Given the description of an element on the screen output the (x, y) to click on. 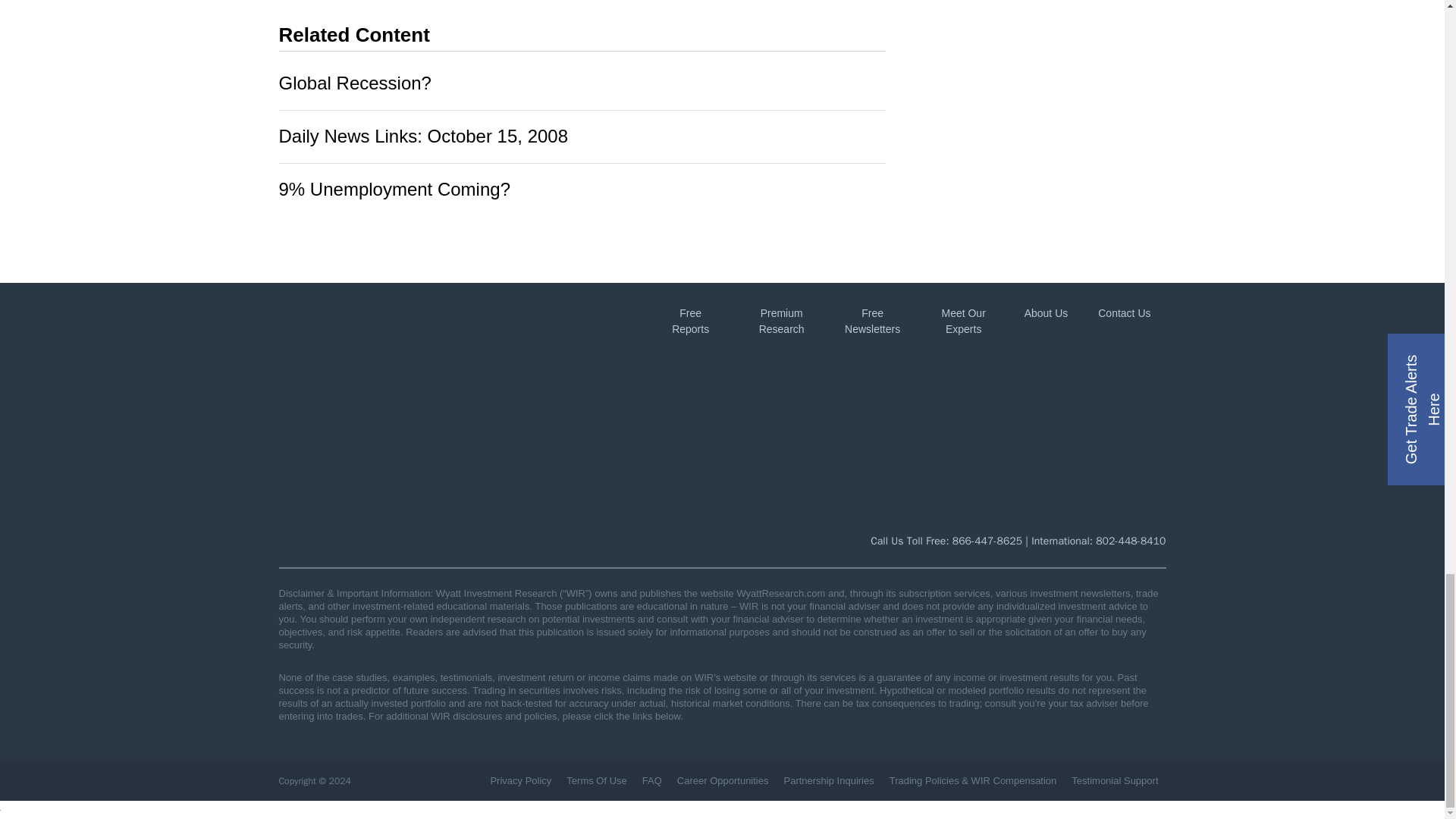
Global Recession? (354, 82)
Daily News Links: October 15, 2008 (424, 136)
Free Reports (690, 320)
